Given the description of an element on the screen output the (x, y) to click on. 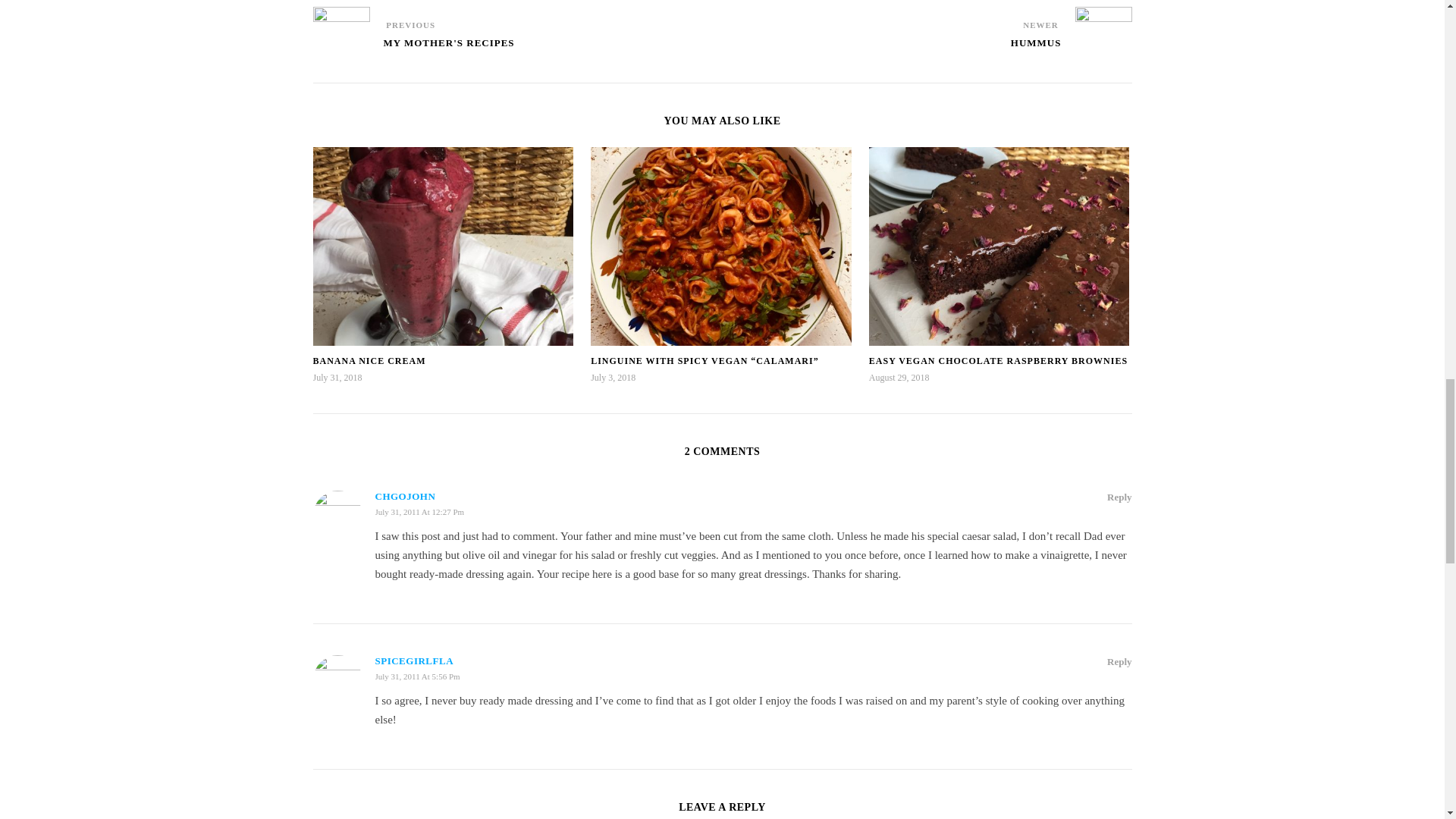
Hummus (1103, 27)
Hummus (1035, 50)
My Mother's Recipes (341, 27)
My Mother's Recipes (449, 50)
